Given the description of an element on the screen output the (x, y) to click on. 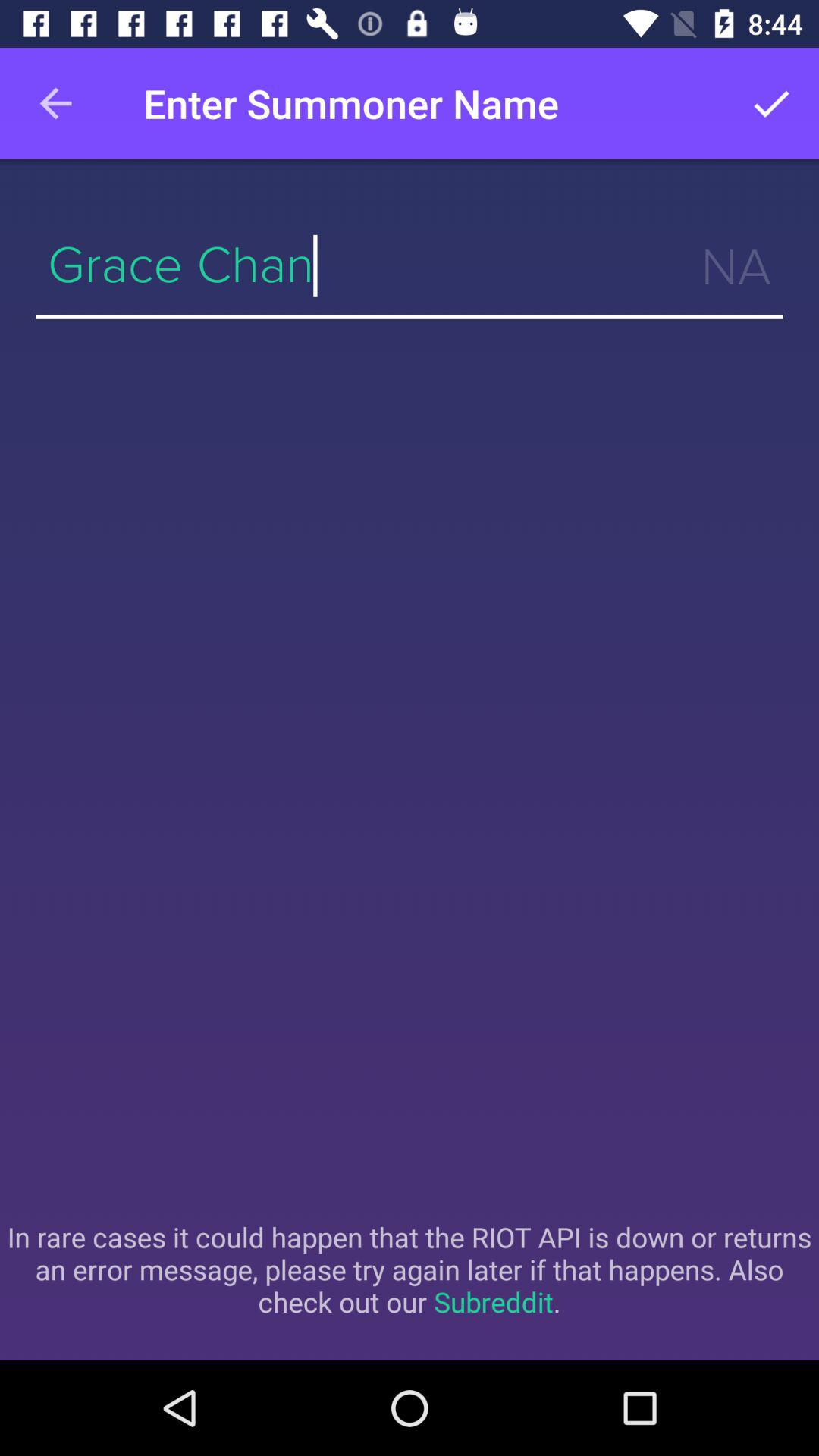
flip to in rare cases item (409, 1269)
